Given the description of an element on the screen output the (x, y) to click on. 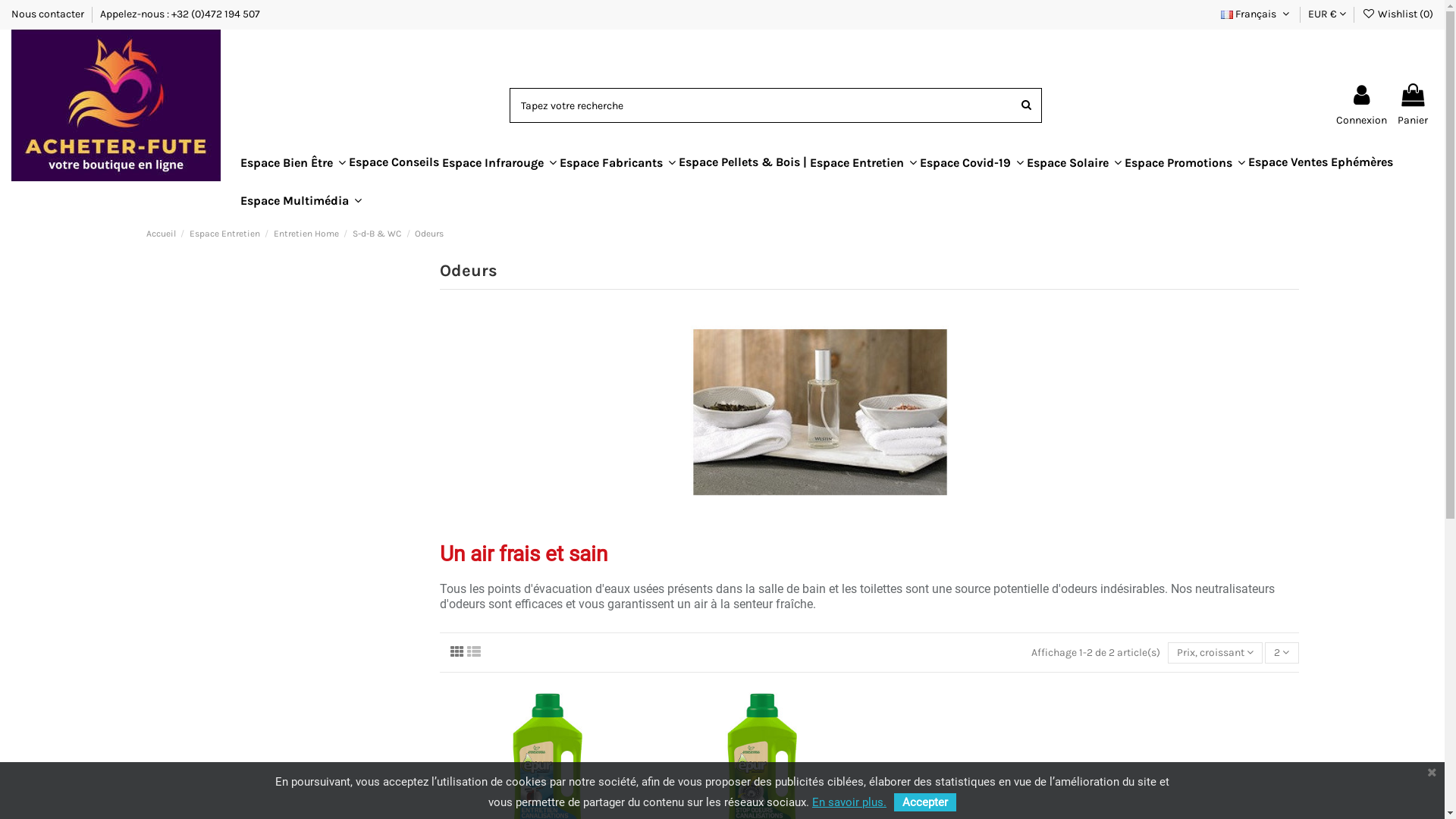
Accueil Element type: text (160, 233)
Connexion Element type: text (1361, 105)
Entretien Home Element type: text (305, 233)
Espace Infrarouge Element type: text (499, 162)
2 Element type: text (1281, 653)
Wishlist (0) Element type: text (1397, 13)
Espace Promotions Element type: text (1184, 162)
Espace Entretien Element type: text (863, 162)
Panier Element type: text (1412, 105)
Appelez-nous : +32 (0)472 194 507 Element type: text (180, 13)
Espace Pellets & Bois | Element type: text (742, 162)
Espace Entretien Element type: text (224, 233)
Prix, croissant Element type: text (1214, 653)
Accepter Element type: text (925, 802)
Nous contacter Element type: text (48, 13)
En savoir plus. Element type: text (849, 801)
S-d-B & WC Element type: text (376, 233)
Espace Solaire Element type: text (1074, 162)
Espace Fabricants Element type: text (617, 162)
Espace Conseils Element type: text (393, 162)
Espace Covid-19 Element type: text (971, 162)
